Given the description of an element on the screen output the (x, y) to click on. 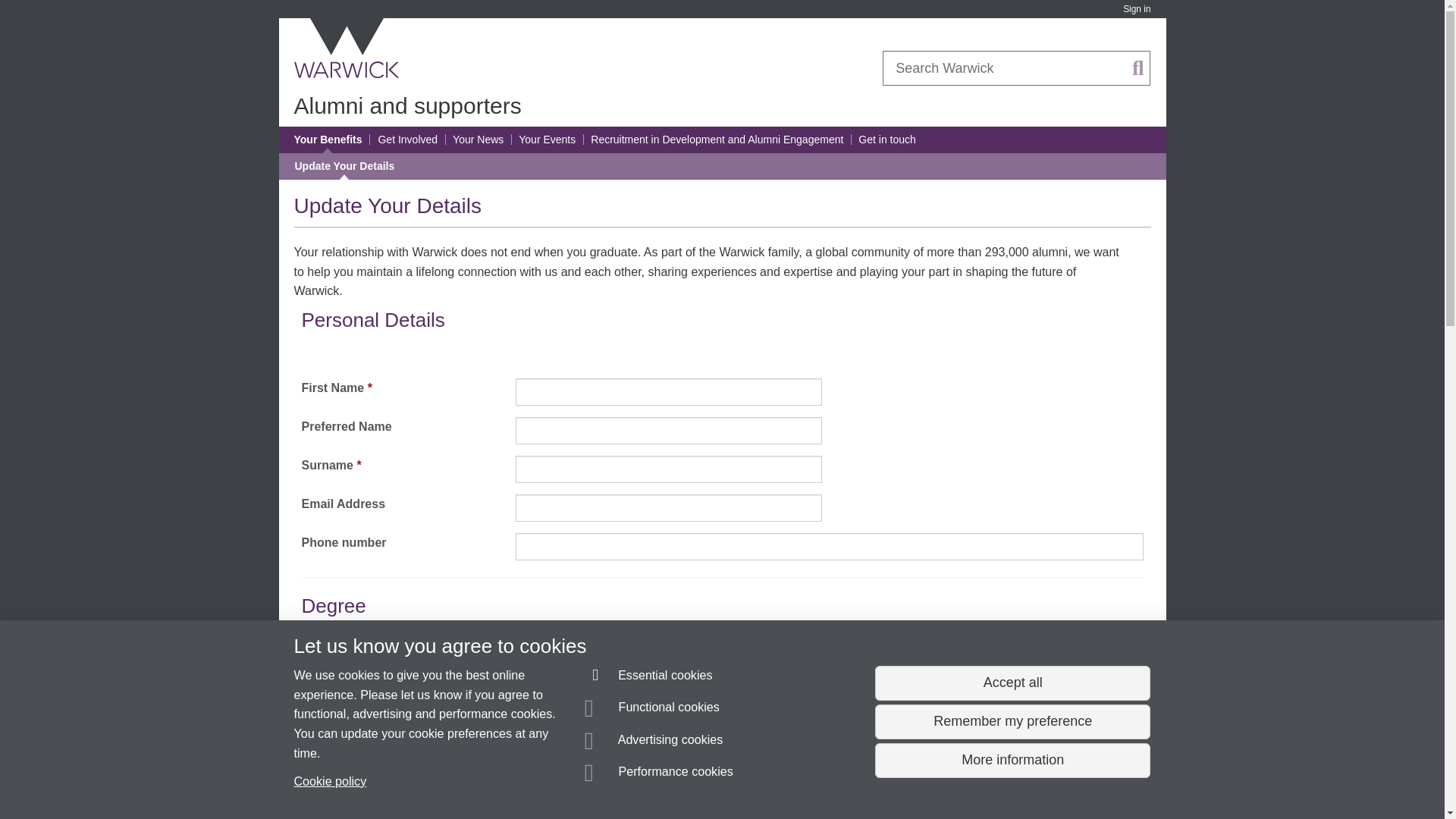
Your News (477, 139)
Your Events (546, 139)
Get Involved (407, 139)
University of Warwick homepage (346, 48)
Your Benefits (328, 139)
Accept all functional, advertising and performance cookies (1012, 683)
Alumni and supporters (407, 105)
Sign in (1136, 9)
Recruitment in Development and Alumni Engagement (717, 139)
Essential cookies are always on (649, 677)
